Given the description of an element on the screen output the (x, y) to click on. 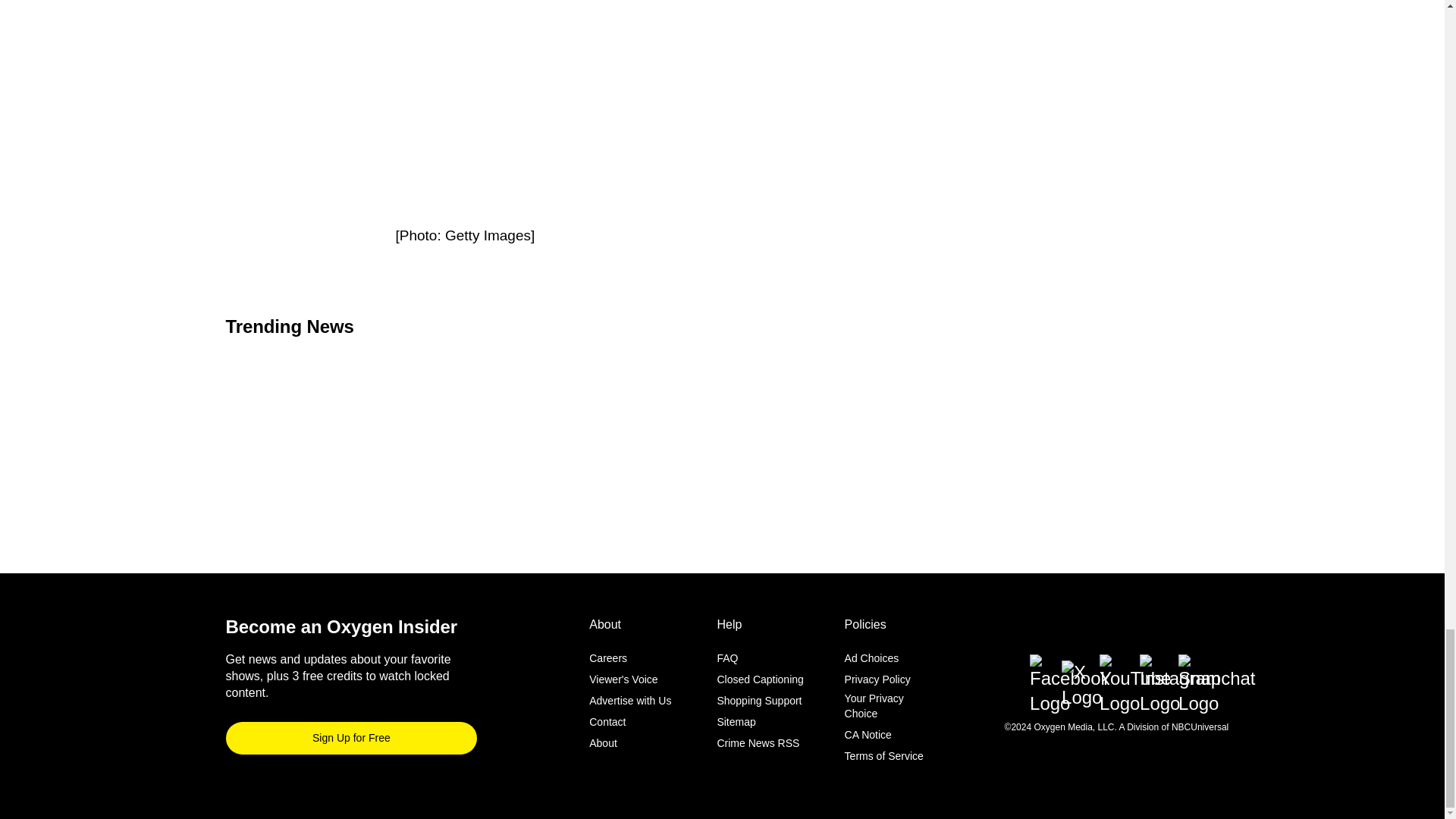
Advertise with Us (630, 700)
JUNE 20, 2018 (715, 153)
